Given the description of an element on the screen output the (x, y) to click on. 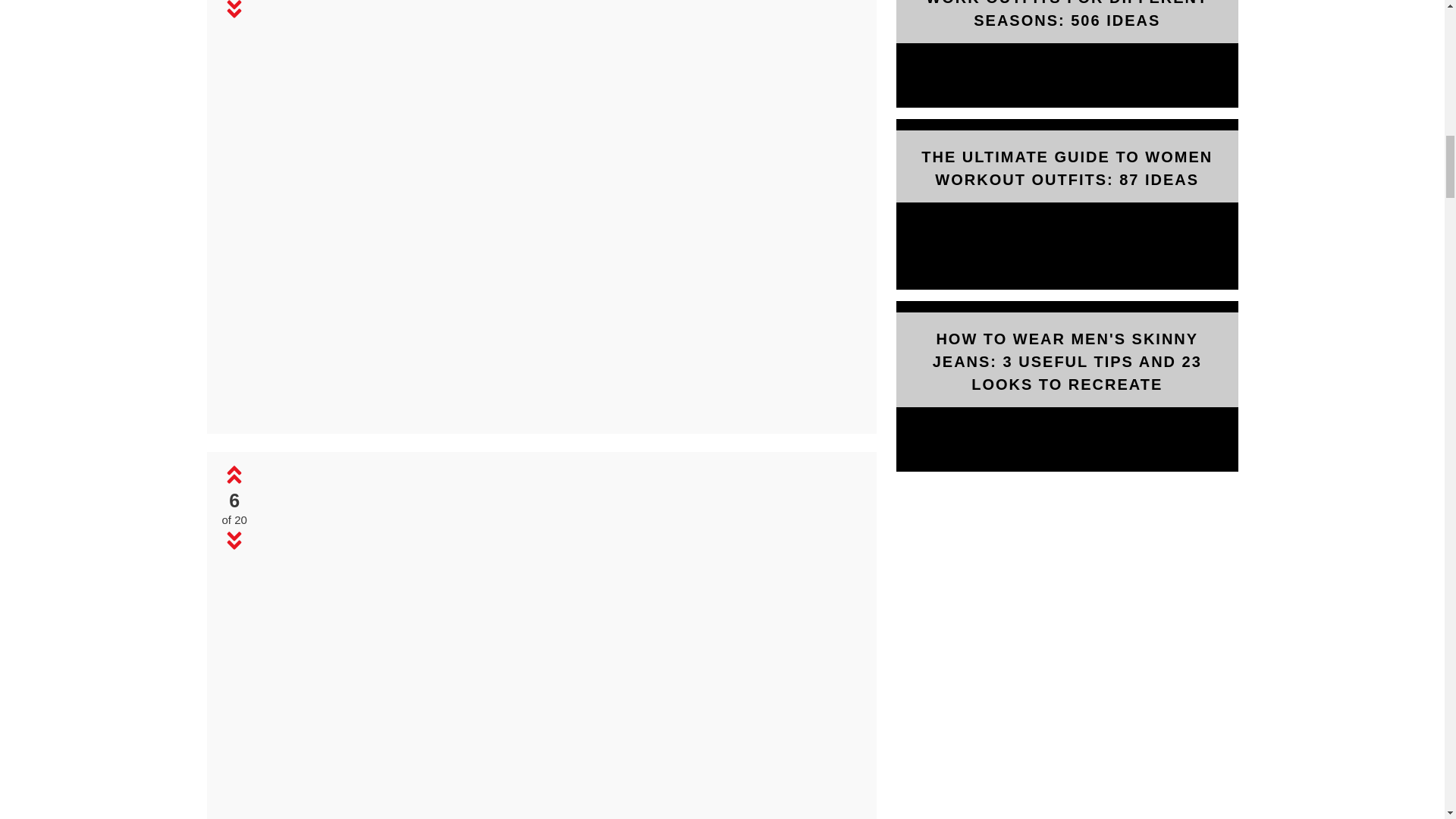
Trendy White Framed Sunglasses For This Summer (559, 641)
Trendy White Framed Sunglasses For This Summer (560, 412)
